Given the description of an element on the screen output the (x, y) to click on. 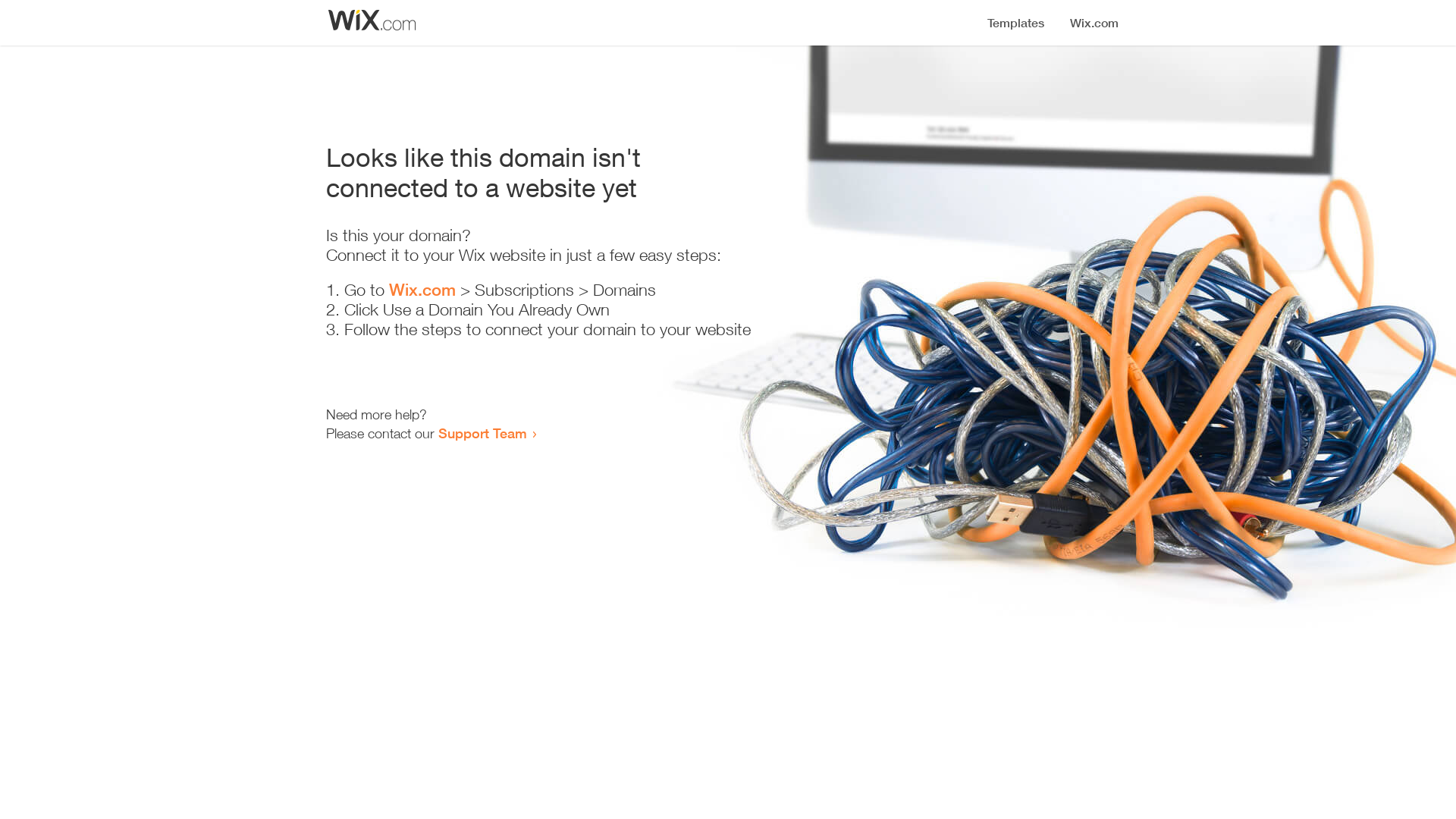
Support Team Element type: text (482, 432)
Wix.com Element type: text (422, 289)
